Given the description of an element on the screen output the (x, y) to click on. 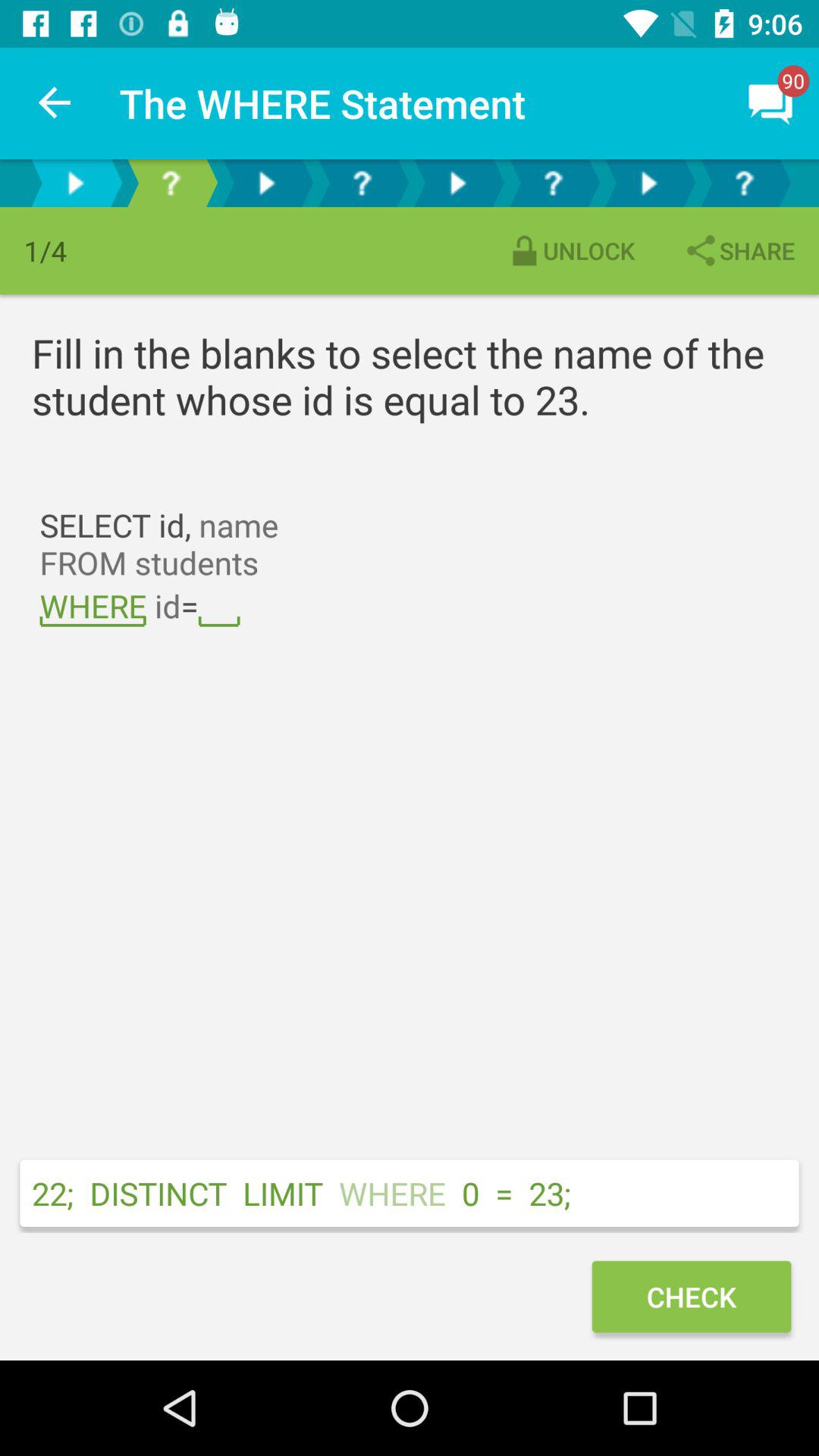
ask a question (552, 183)
